Given the description of an element on the screen output the (x, y) to click on. 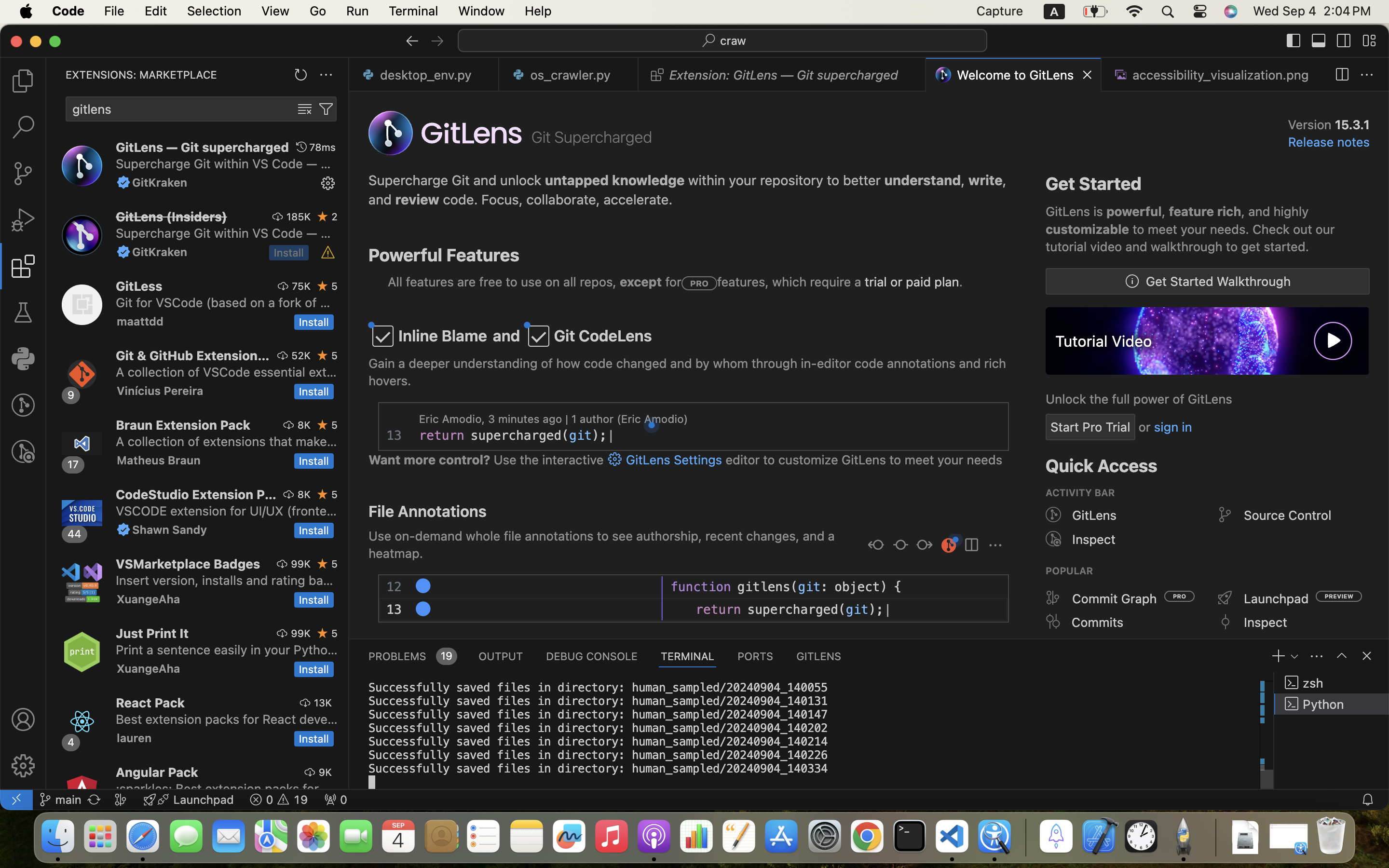
 Element type: AXStaticText (1053, 621)
6 yrs ago Element type: AXStaticText (619, 586)
0 Element type: AXRadioButton (23, 358)
 Element type: AXStaticText (1132, 281)
Braun Extension Pack Element type: AXStaticText (182, 424)
